Given the description of an element on the screen output the (x, y) to click on. 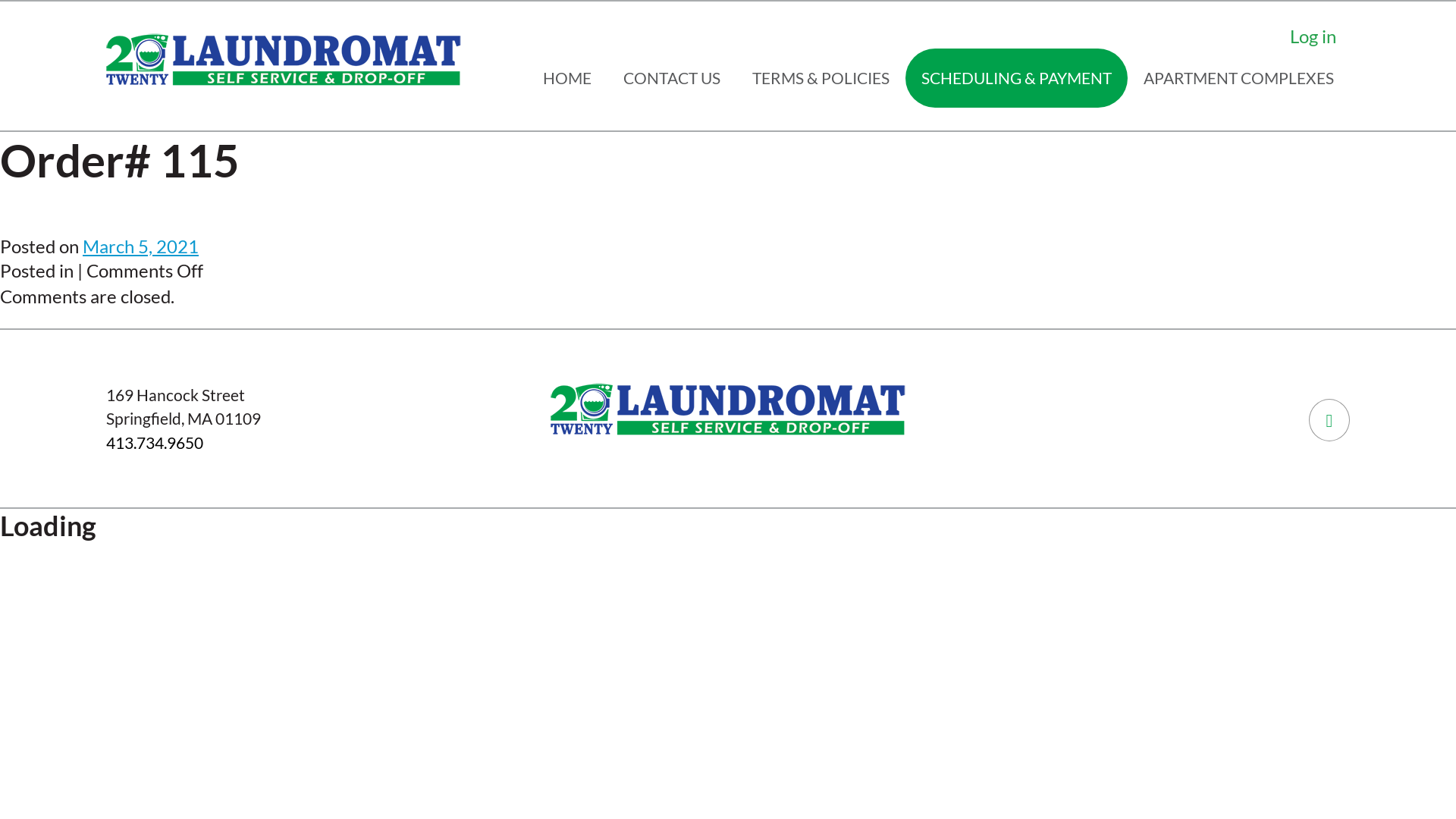
HOME Element type: text (567, 77)
TERMS & POLICIES Element type: text (820, 77)
SCHEDULING & PAYMENT Element type: text (1016, 77)
2020 Laundromat Element type: text (283, 59)
Log in Element type: text (1312, 35)
CONTACT US Element type: text (671, 77)
March 5, 2021 Element type: text (140, 246)
413.734.9650 Element type: text (154, 442)
APARTMENT COMPLEXES Element type: text (1238, 77)
